Given the description of an element on the screen output the (x, y) to click on. 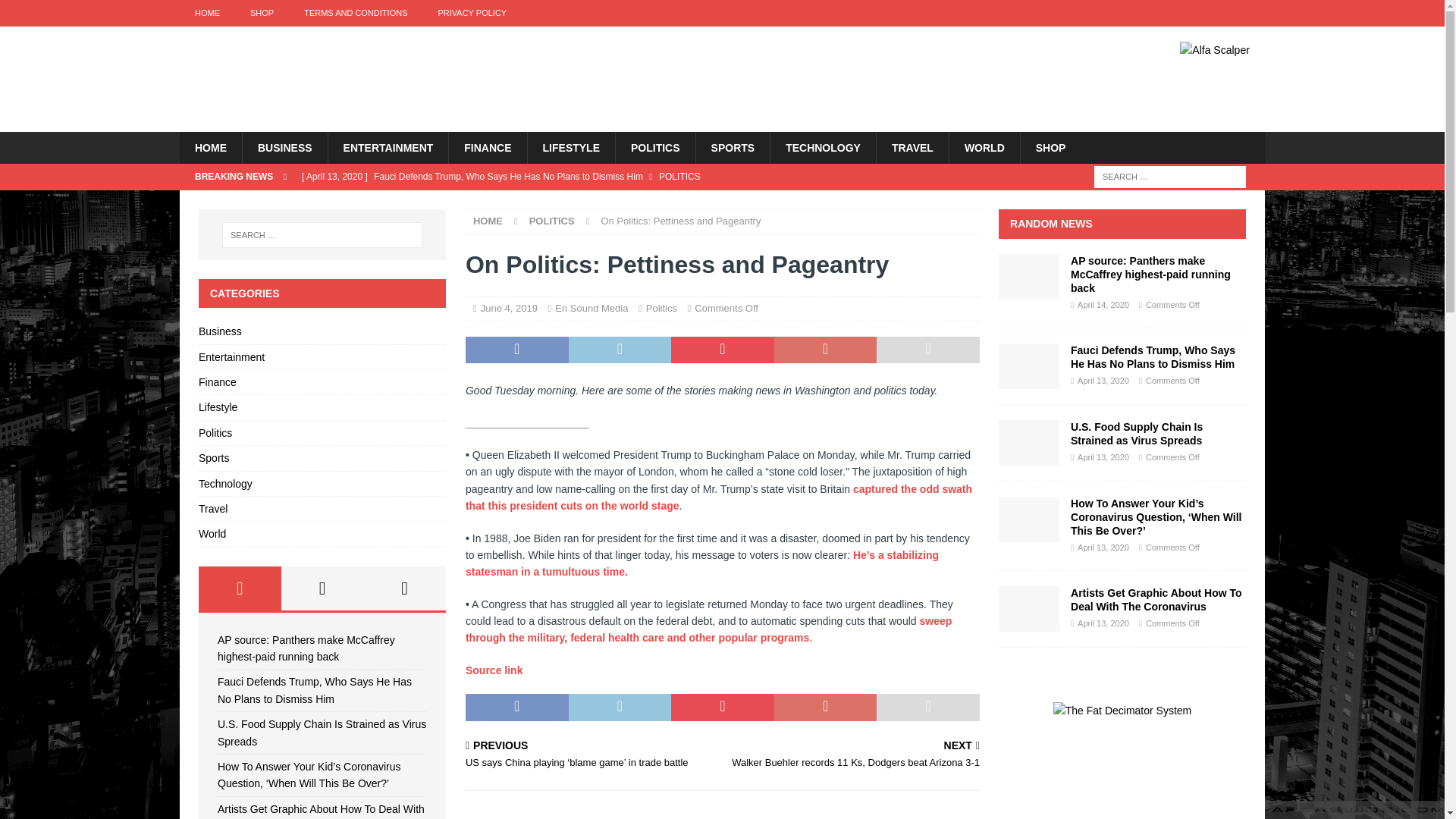
HOME (210, 147)
TRAVEL (912, 147)
SPORTS (732, 147)
SHOP (261, 13)
FINANCE (486, 147)
WORLD (984, 147)
TERMS AND CONDITIONS (355, 13)
U.S. Food Supply Chain Is Strained as Virus Spreads (590, 202)
POLITICS (654, 147)
Fauci Defends Trump, Who Says He Has No Plans to Dismiss Him (590, 176)
